Given the description of an element on the screen output the (x, y) to click on. 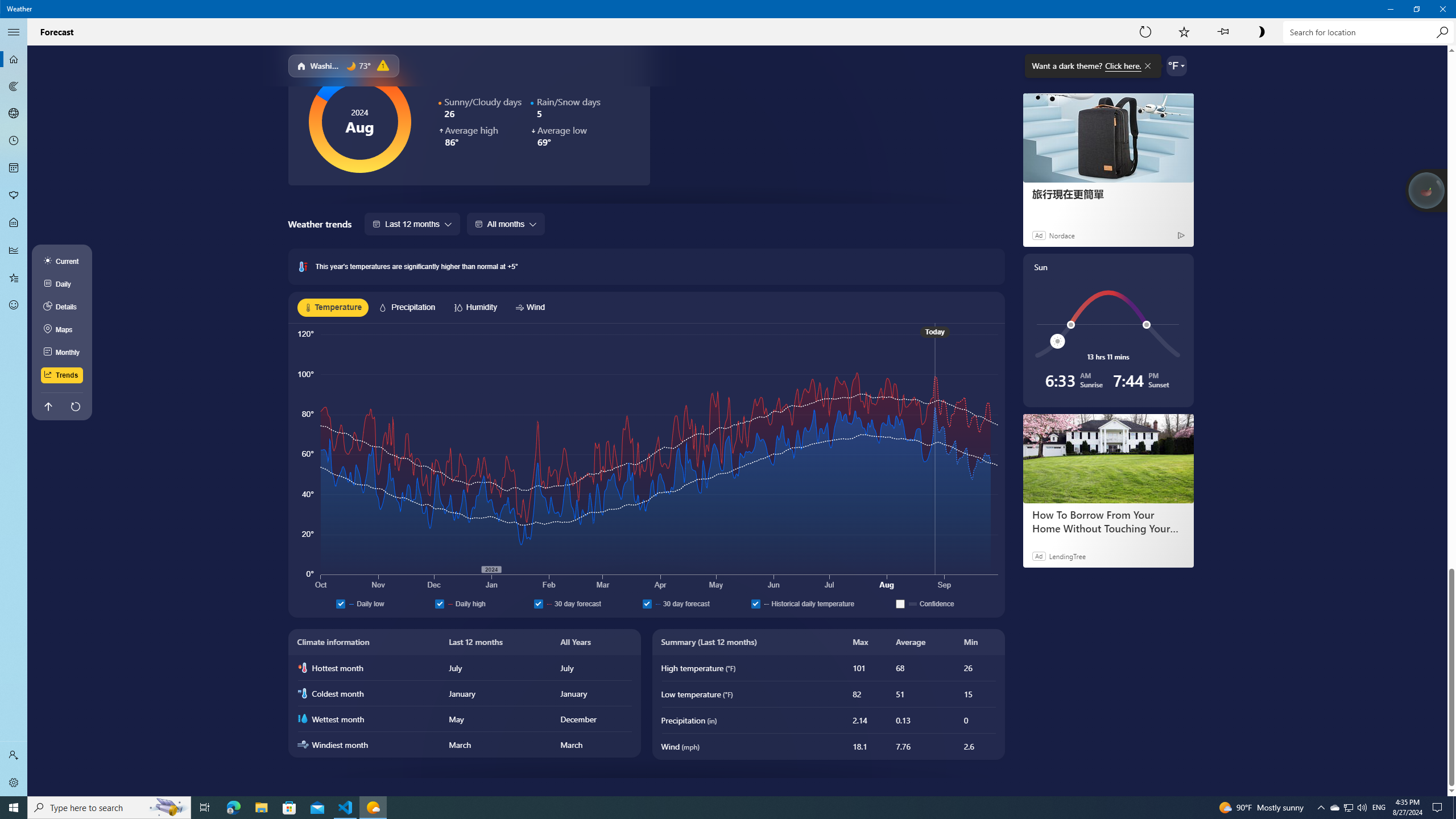
Minimize Weather (1390, 9)
Hourly Forecast - Not Selected (13, 140)
Monthly Forecast - Not Selected (13, 167)
Settings (13, 782)
Forecast - Not Selected (13, 58)
Favorites - Not Selected (13, 277)
Maps - Not Selected (13, 85)
Favorites - Not Selected (13, 277)
